Given the description of an element on the screen output the (x, y) to click on. 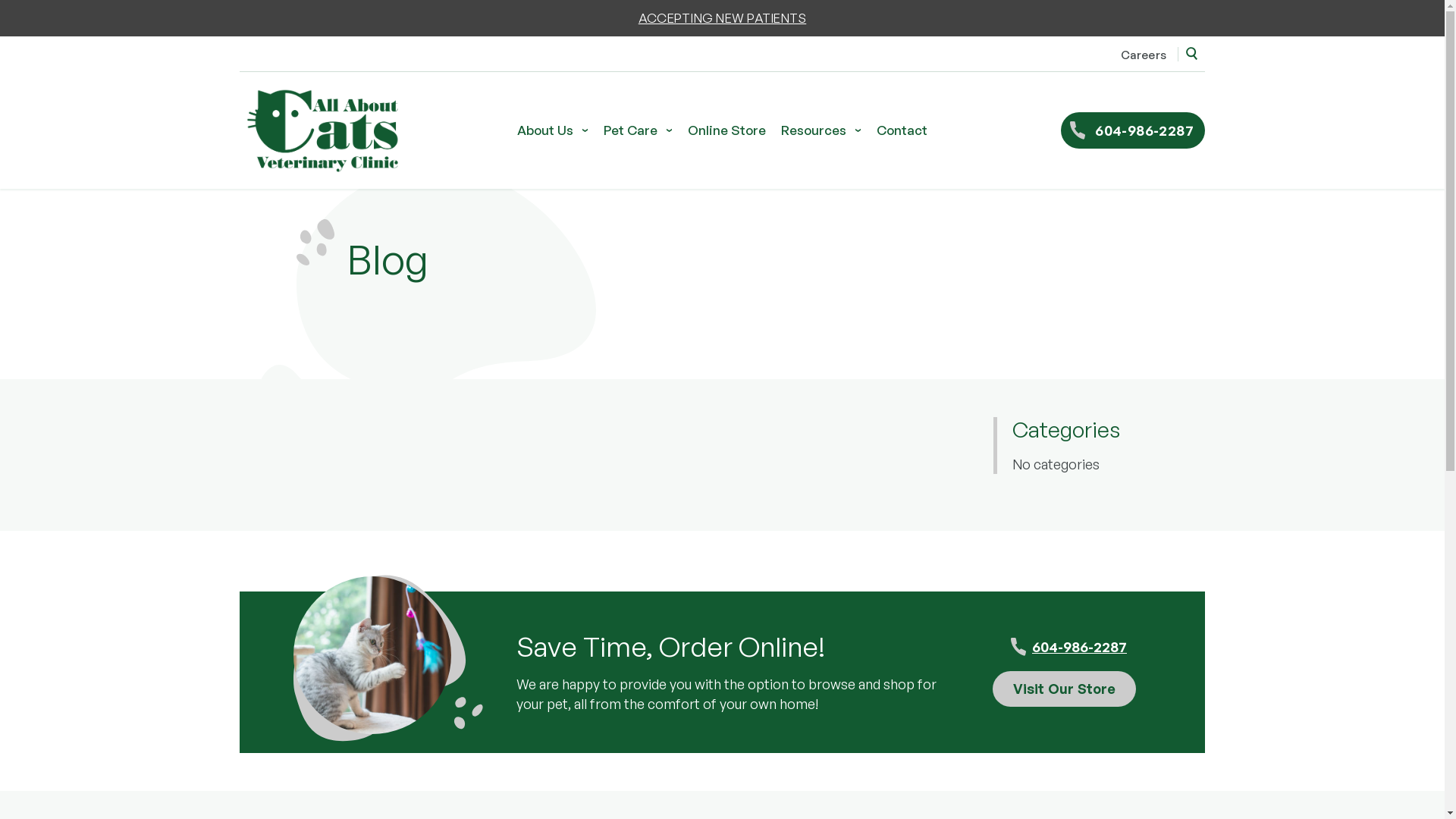
Pet Care Element type: text (637, 130)
ACCEPTING NEW PATIENTS Element type: text (722, 17)
Online Store Element type: text (726, 130)
Resources Element type: text (821, 130)
604-986-2287 Element type: text (1063, 646)
Careers Element type: text (1143, 54)
Visit Our Store Element type: text (1063, 688)
Contact Element type: text (901, 130)
About Us Element type: text (552, 130)
604-986-2287 Element type: text (1132, 130)
